Given the description of an element on the screen output the (x, y) to click on. 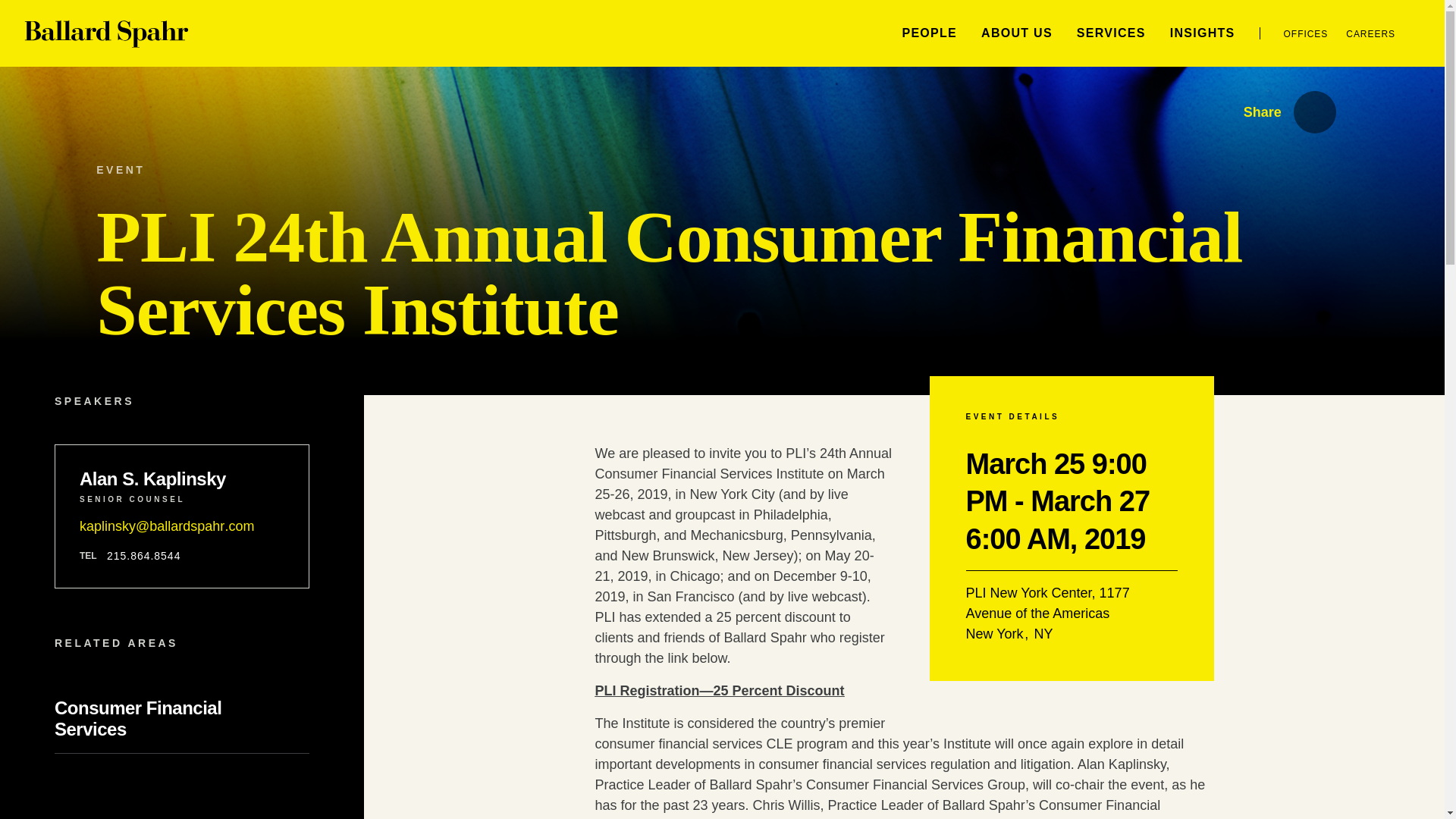
Open Search Menu (1425, 33)
215.864.8544 (143, 555)
OFFICES (1305, 33)
CAREERS (1369, 33)
INSIGHTS (1202, 32)
Alan S. Kaplinsky (181, 478)
SERVICES (1111, 32)
PEOPLE (928, 32)
Consumer Financial Services (138, 718)
ABOUT US (1016, 32)
